Given the description of an element on the screen output the (x, y) to click on. 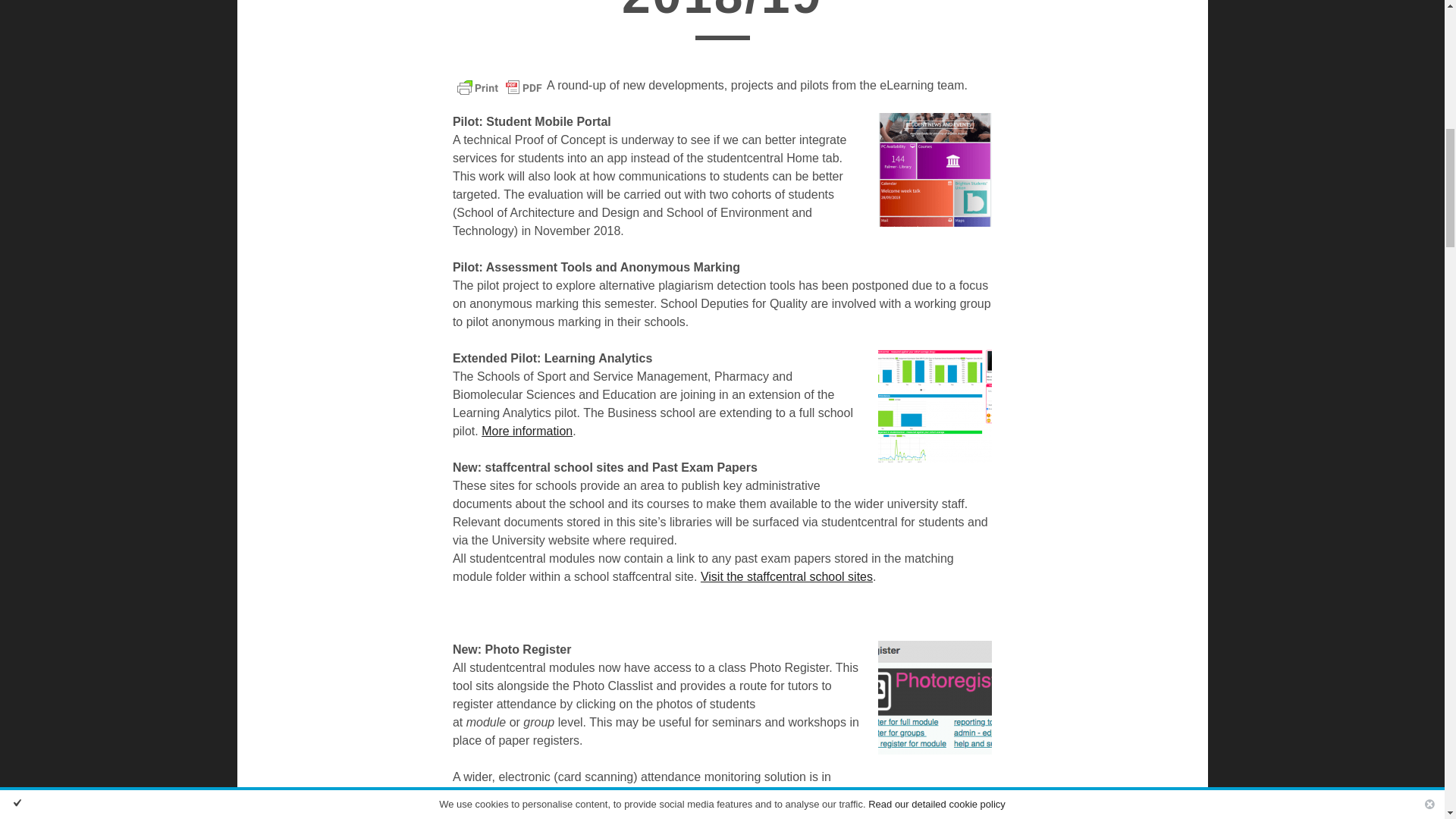
More information (526, 431)
Visit the staffcentral school sites (786, 576)
